Given the description of an element on the screen output the (x, y) to click on. 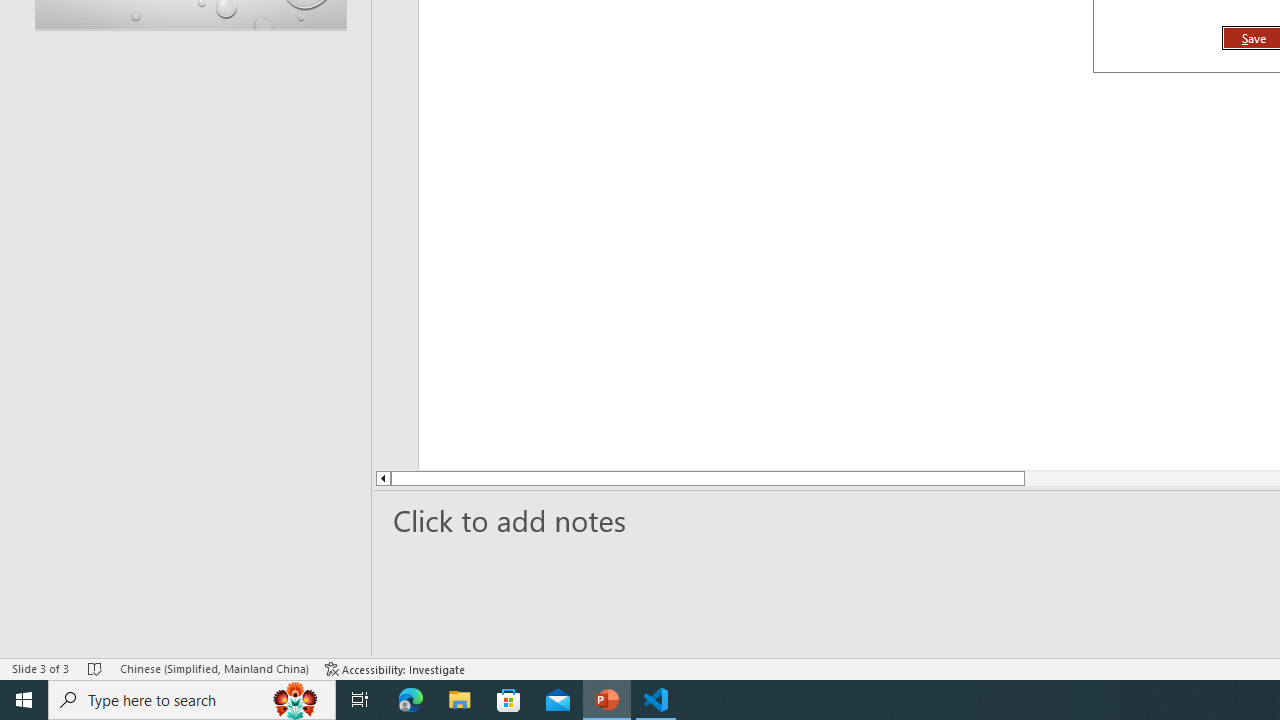
Microsoft Edge (411, 699)
